Given the description of an element on the screen output the (x, y) to click on. 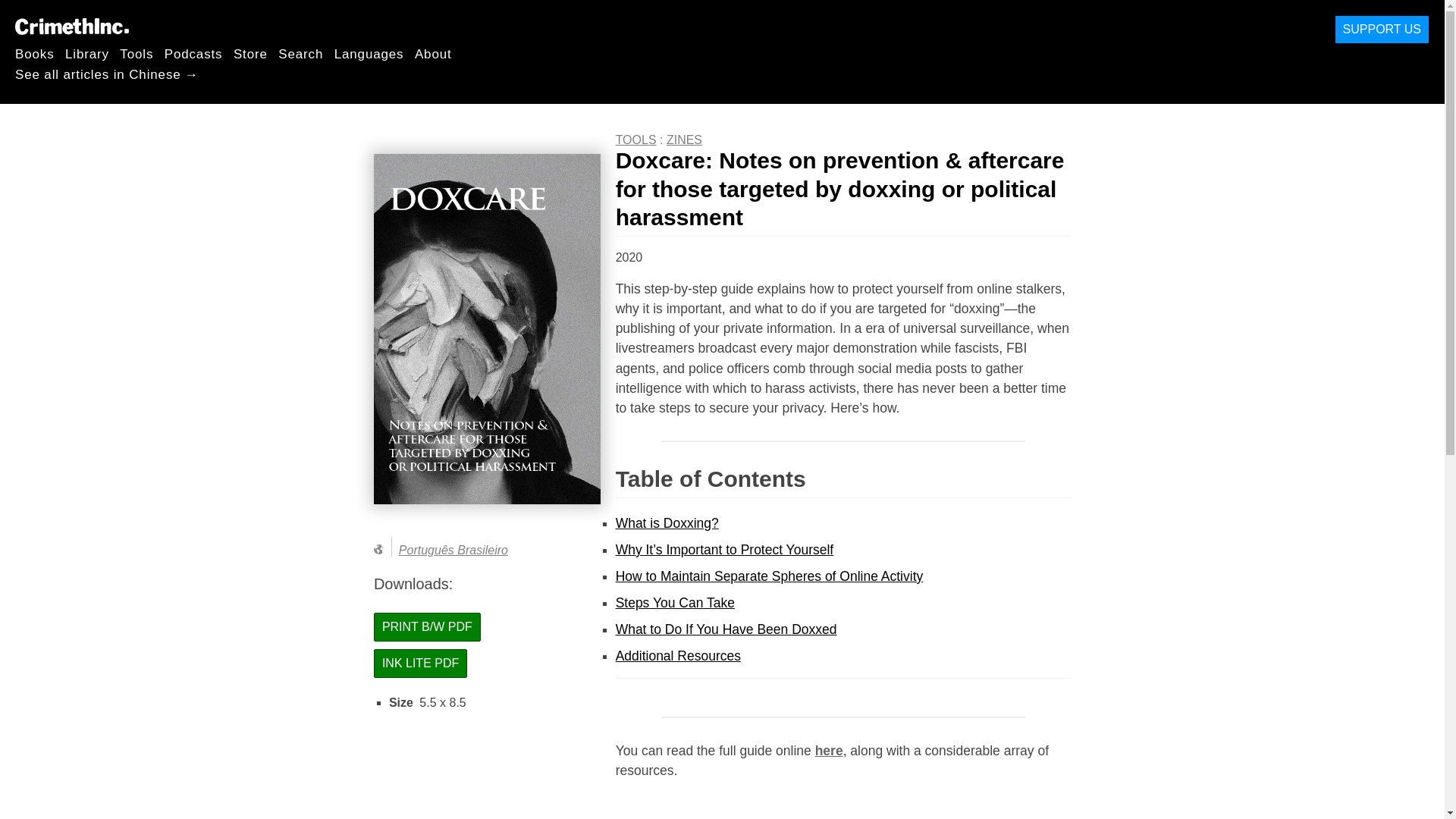
TOOLS (635, 139)
Books (34, 53)
Search (300, 53)
Podcasts (193, 53)
SUPPORT US (1382, 29)
What is Doxxing? (667, 522)
CrimethInc. (71, 26)
What to Do If You Have Been Doxxed (726, 629)
Library (87, 53)
INK LITE PDF (420, 663)
Steps You Can Take (675, 602)
Tools (135, 53)
here (829, 750)
Languages (369, 53)
ZINES (683, 139)
